Given the description of an element on the screen output the (x, y) to click on. 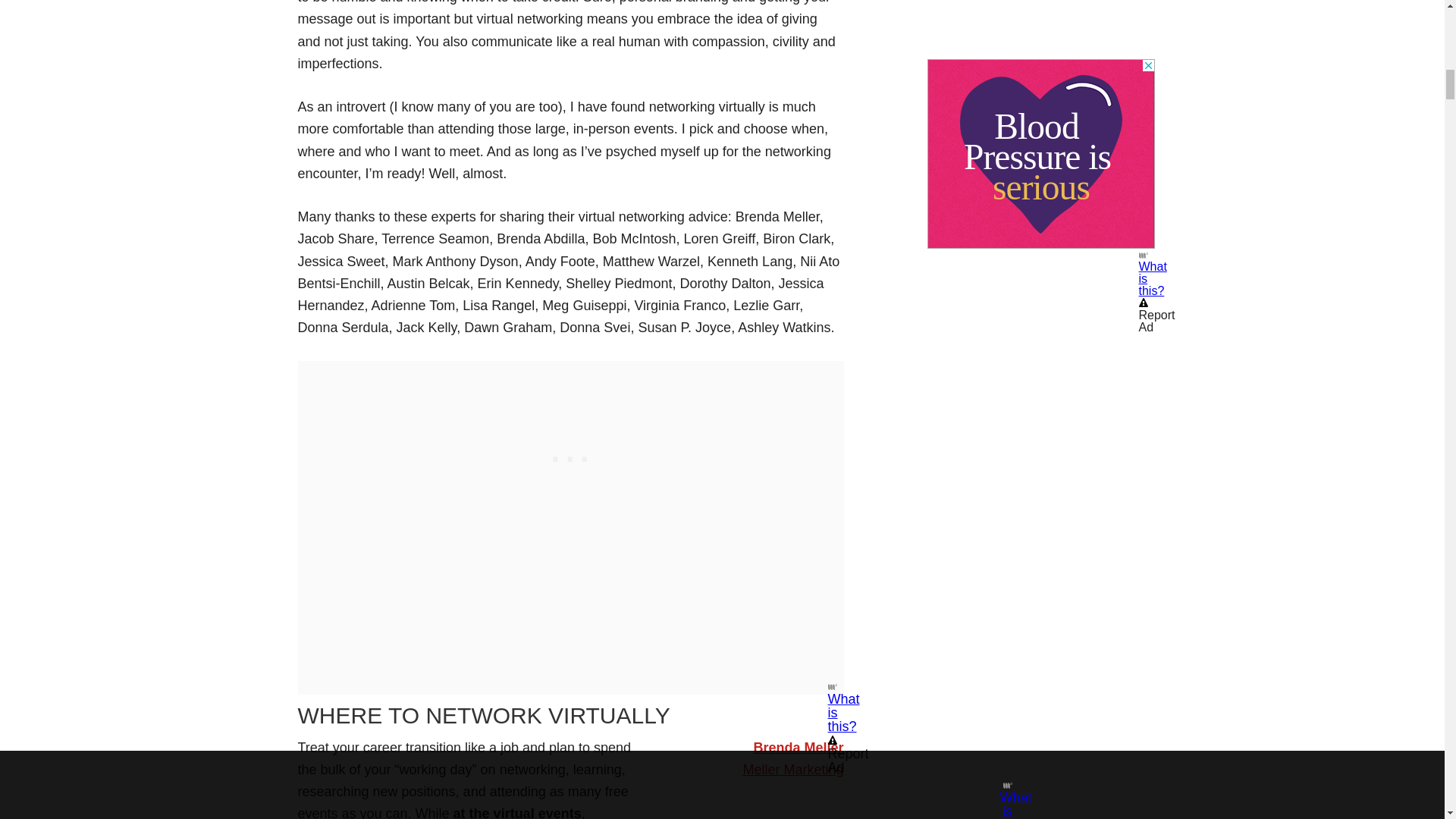
Brenda Meller (797, 747)
Meller Marketing (792, 769)
3rd party ad content (570, 455)
